Given the description of an element on the screen output the (x, y) to click on. 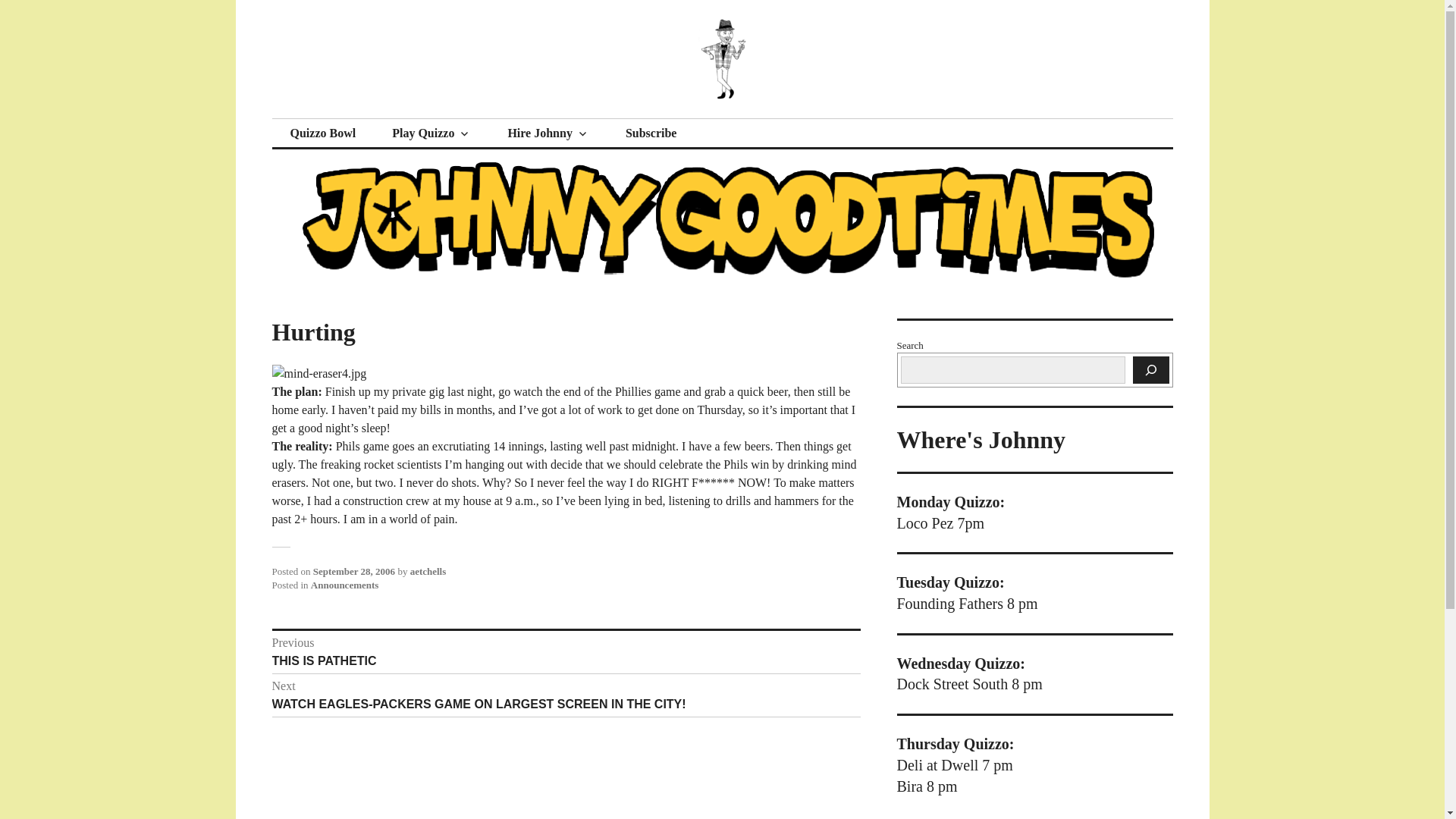
aetchells (428, 571)
Hire Johnny (548, 133)
Johnny Goodtimes (392, 117)
Quizzo Bowl (322, 133)
Announcements (344, 584)
September 28, 2006 (565, 651)
Play Quizzo (353, 571)
Subscribe (431, 133)
Sign up for the Johnny Goodtimes Email Newsletter (651, 133)
